Given the description of an element on the screen output the (x, y) to click on. 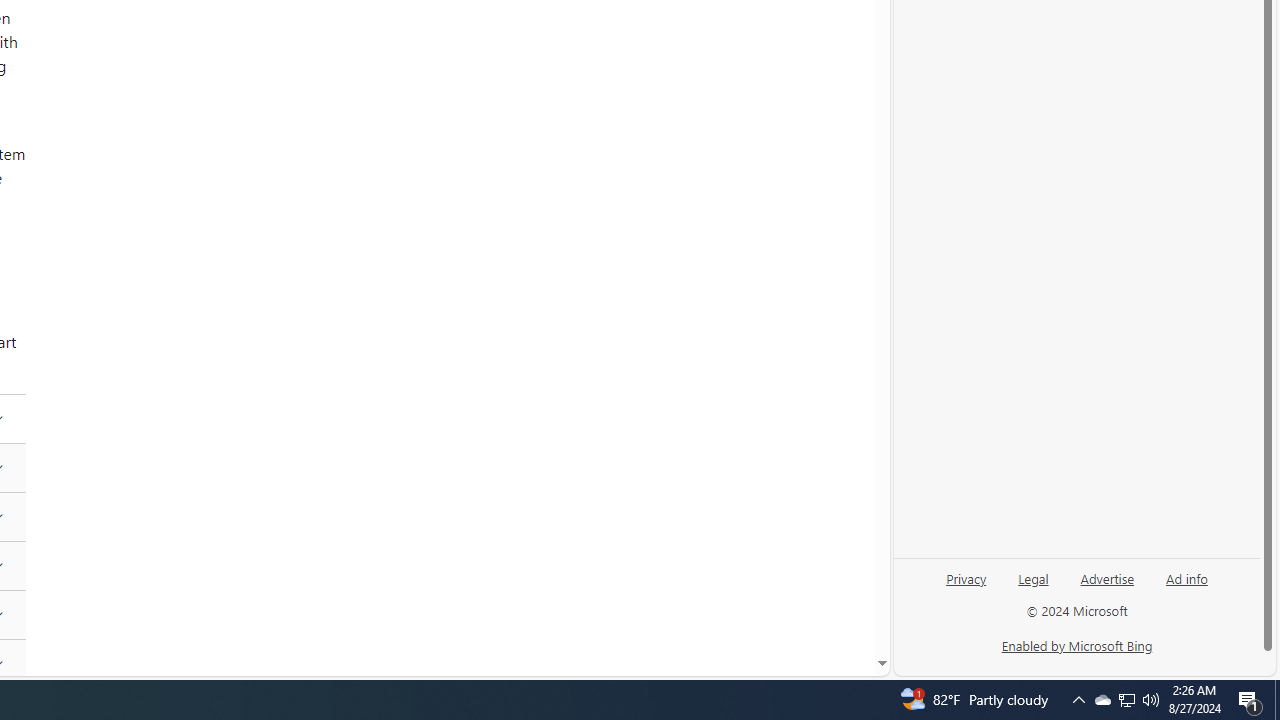
Ad info (1186, 586)
Ad info (1187, 577)
Legal (1033, 586)
Advertise (1106, 586)
Advertise (1107, 577)
Privacy (966, 586)
Legal (1033, 577)
Privacy (965, 577)
